Given the description of an element on the screen output the (x, y) to click on. 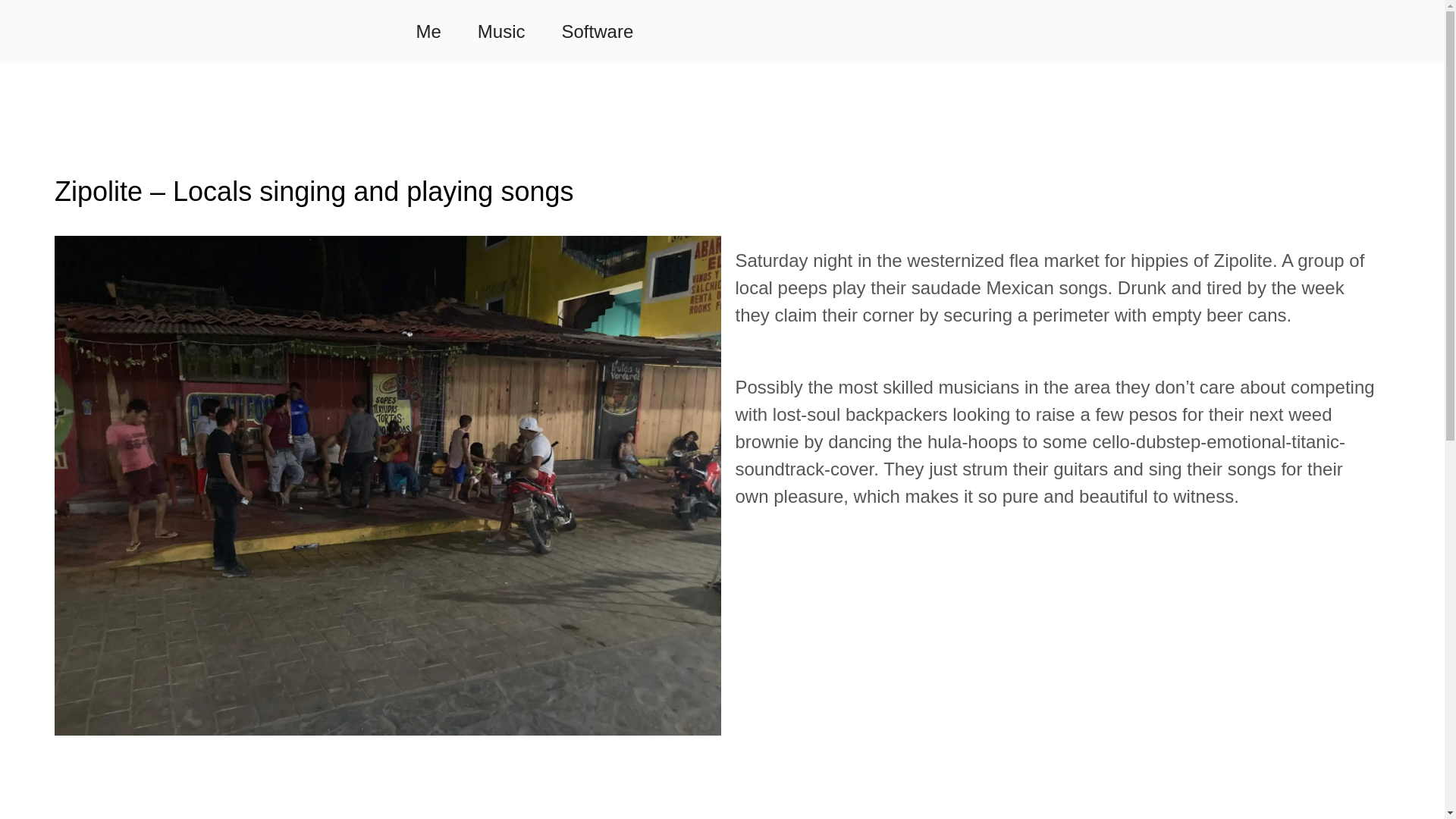
Music (501, 31)
Me (427, 31)
Software (597, 31)
